Given the description of an element on the screen output the (x, y) to click on. 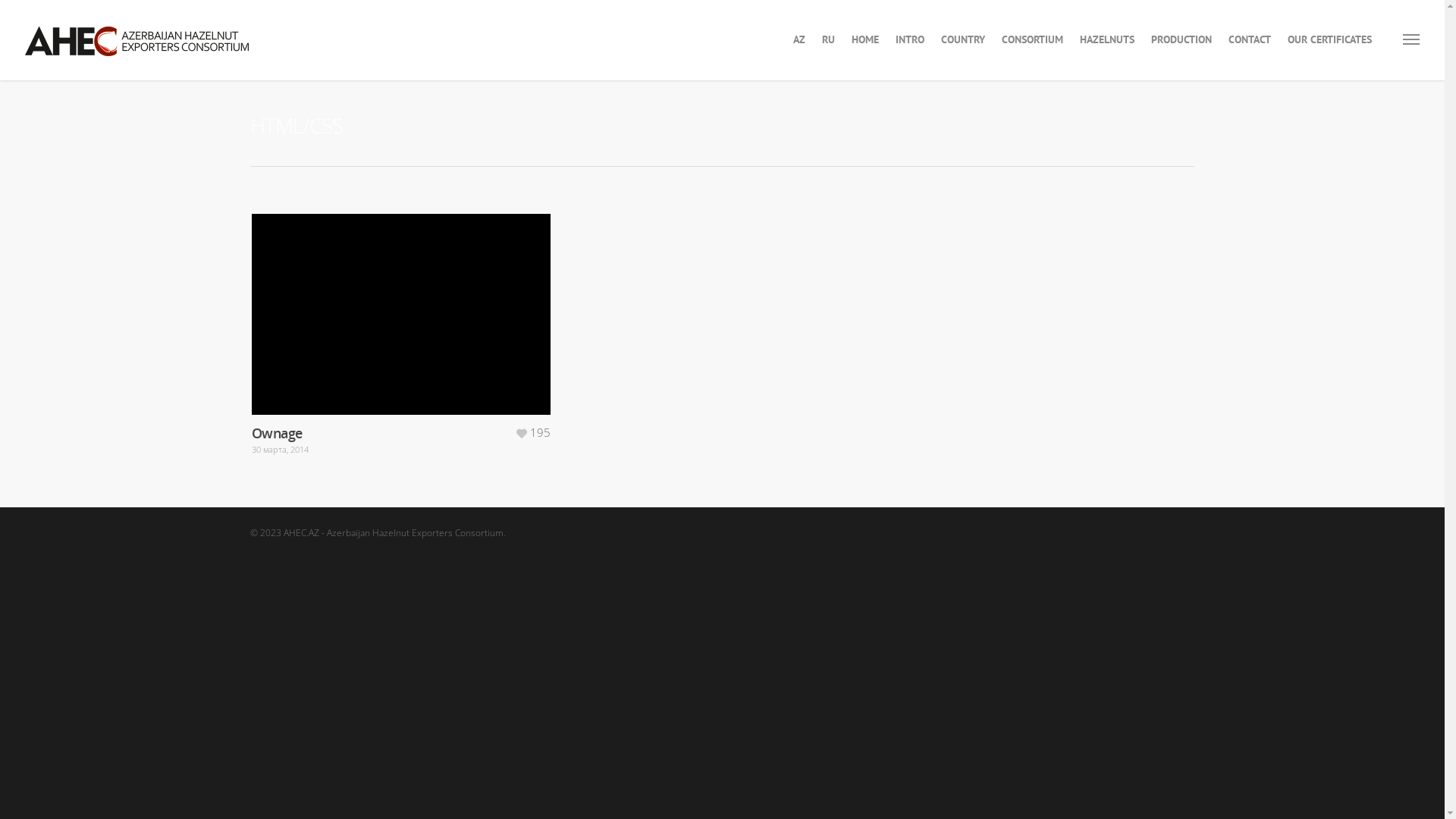
OUR CERTIFICATES Element type: text (1329, 50)
CONSORTIUM Element type: text (1032, 50)
AZ Element type: text (798, 50)
195 Element type: text (531, 431)
HOME Element type: text (865, 50)
COUNTRY Element type: text (962, 50)
CONTACT Element type: text (1249, 50)
RU Element type: text (828, 50)
INTRO Element type: text (909, 50)
HAZELNUTS Element type: text (1107, 50)
PRODUCTION Element type: text (1181, 50)
